Given the description of an element on the screen output the (x, y) to click on. 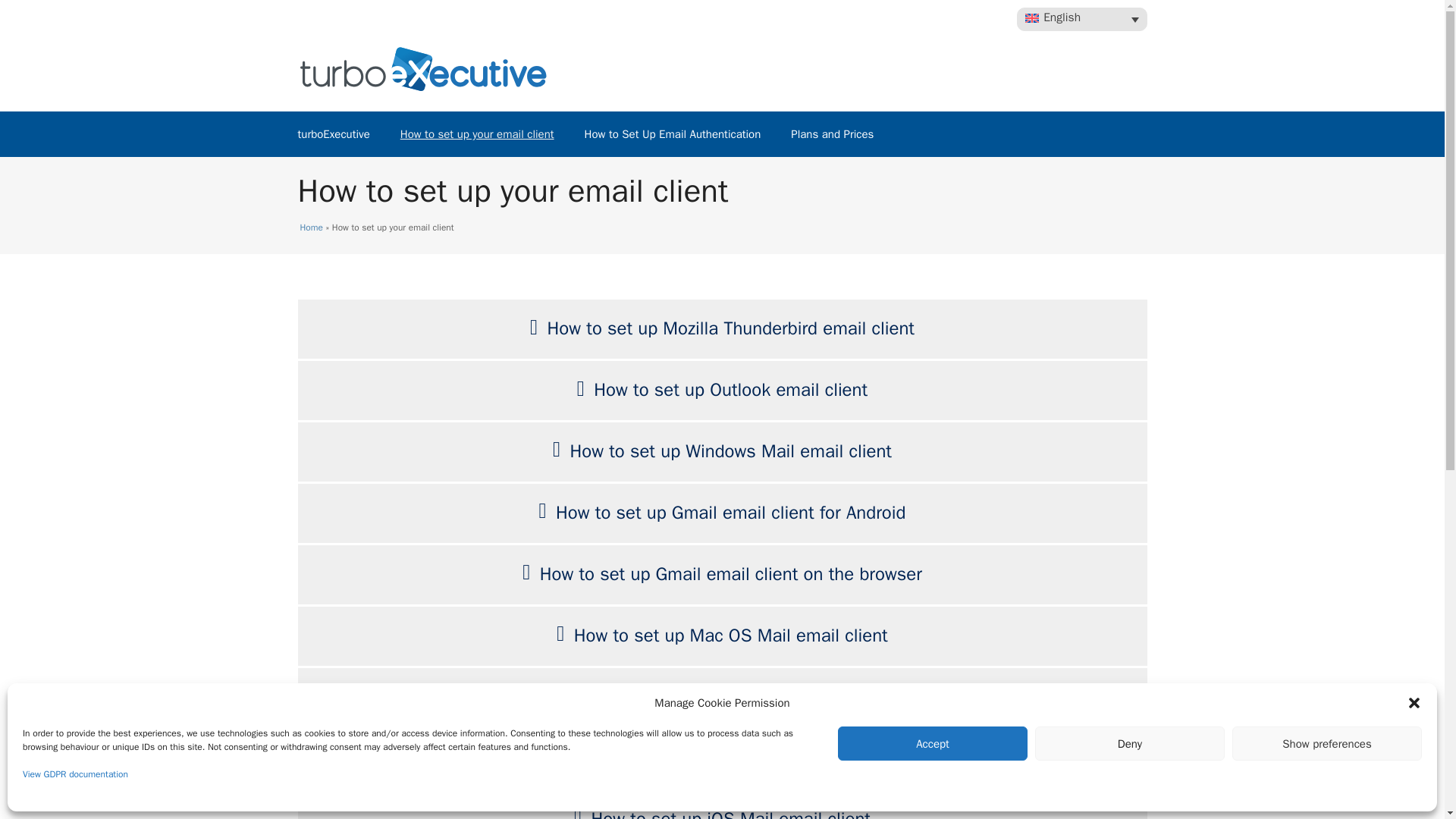
How to set up iOS Mail email client (730, 813)
Show preferences (1326, 743)
How to set up Huawei Mail email client (730, 696)
How to set up Gmail email client for Android (730, 512)
View GDPR documentation (75, 774)
How to set up Outlook email client (730, 389)
How to set up Gmail email client for Android (730, 512)
Deny (1129, 743)
How to set up Samsung Mail email client (730, 757)
How to set up Mozilla Thunderbird email client (730, 327)
